Given the description of an element on the screen output the (x, y) to click on. 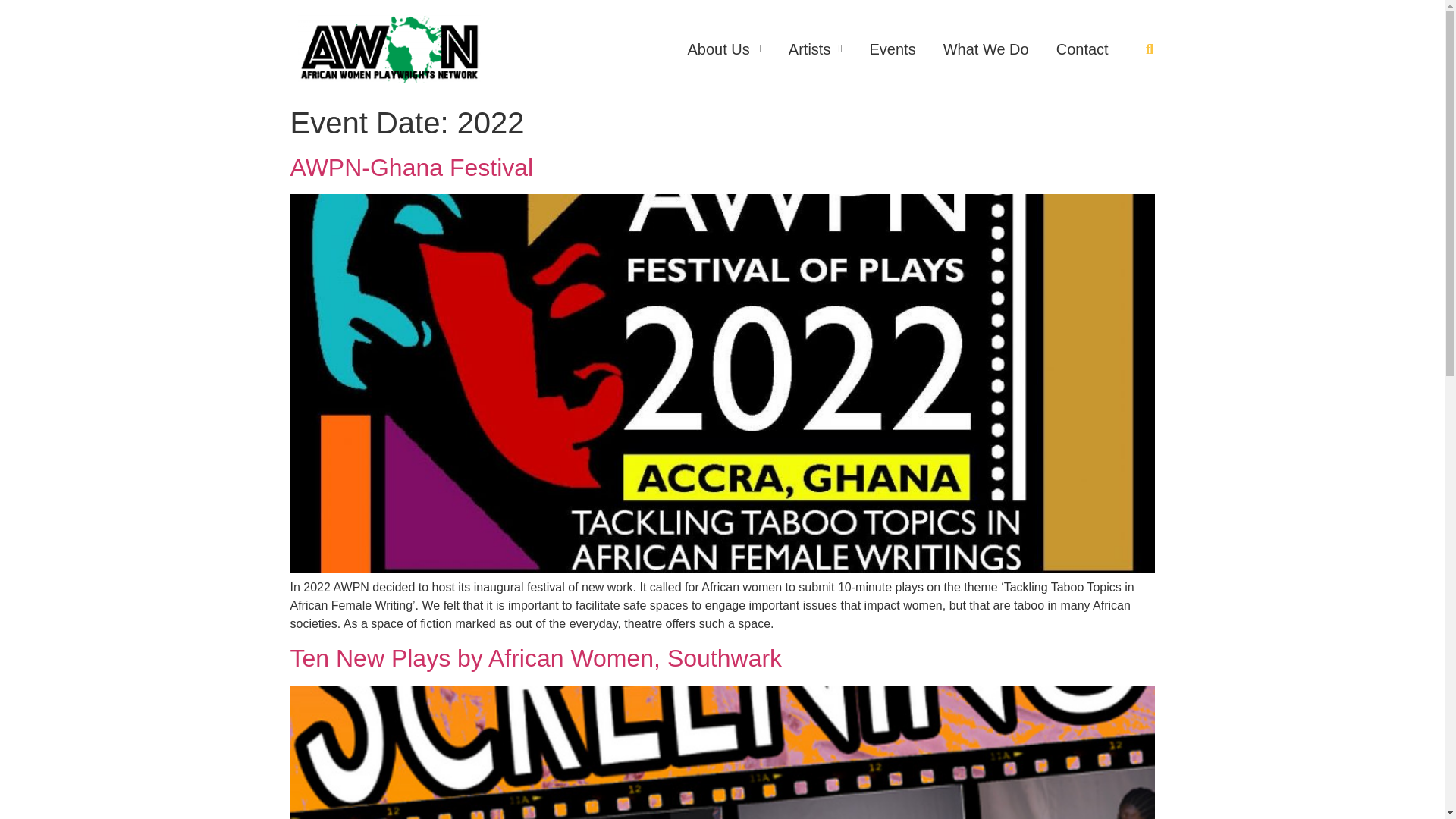
Contact (1082, 48)
About Us (723, 48)
Events (893, 48)
What We Do (986, 48)
Artists (815, 48)
